Given the description of an element on the screen output the (x, y) to click on. 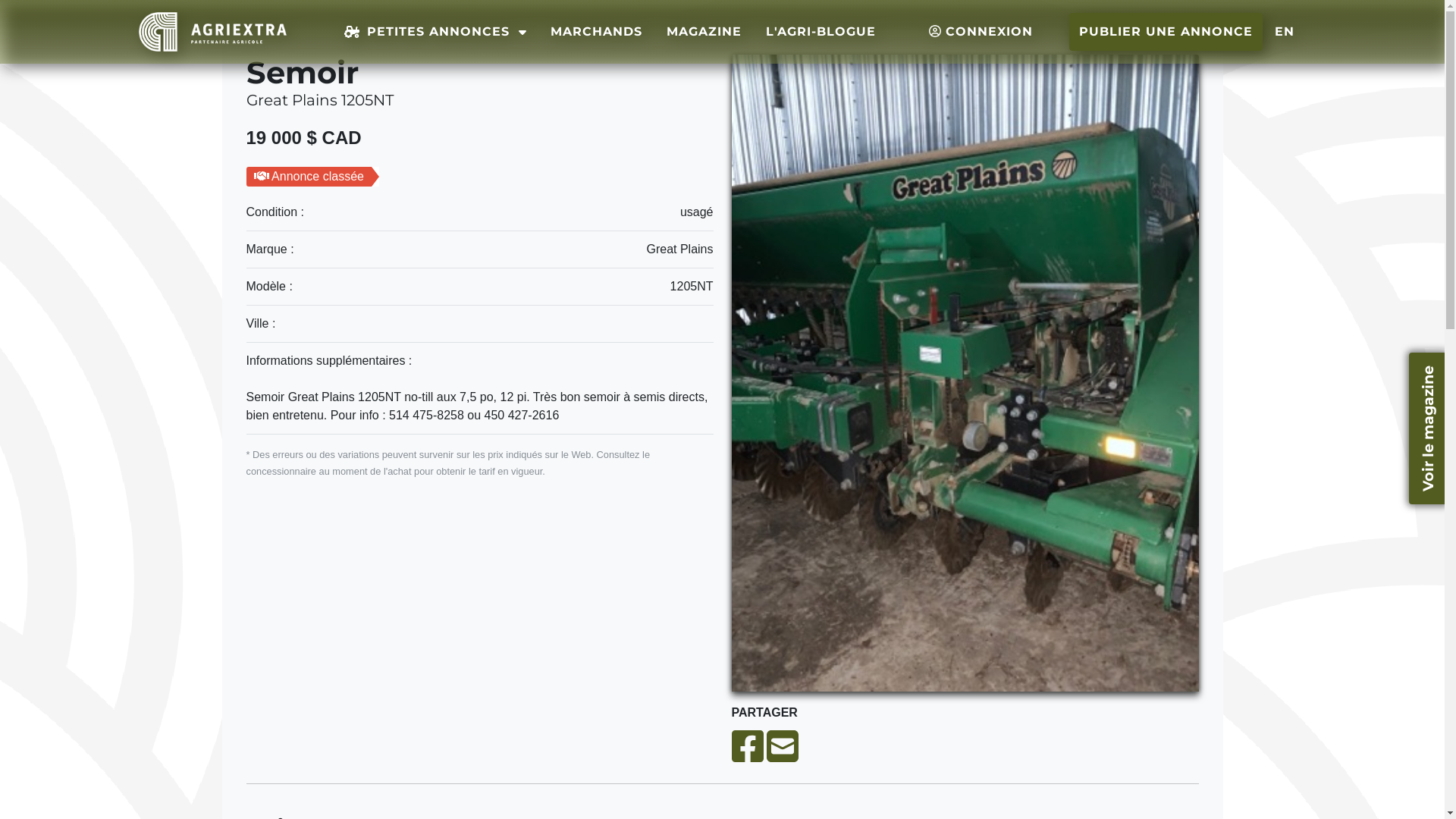
MARCHANDS Element type: text (596, 31)
EN Element type: text (1283, 31)
PUBLIER UNE ANNONCE Element type: text (1165, 31)
MAGAZINE Element type: text (703, 31)
PETITES ANNONCES Element type: text (435, 31)
 CONNEXION Element type: text (980, 31)
L'AGRI-BLOGUE Element type: text (820, 31)
